Given the description of an element on the screen output the (x, y) to click on. 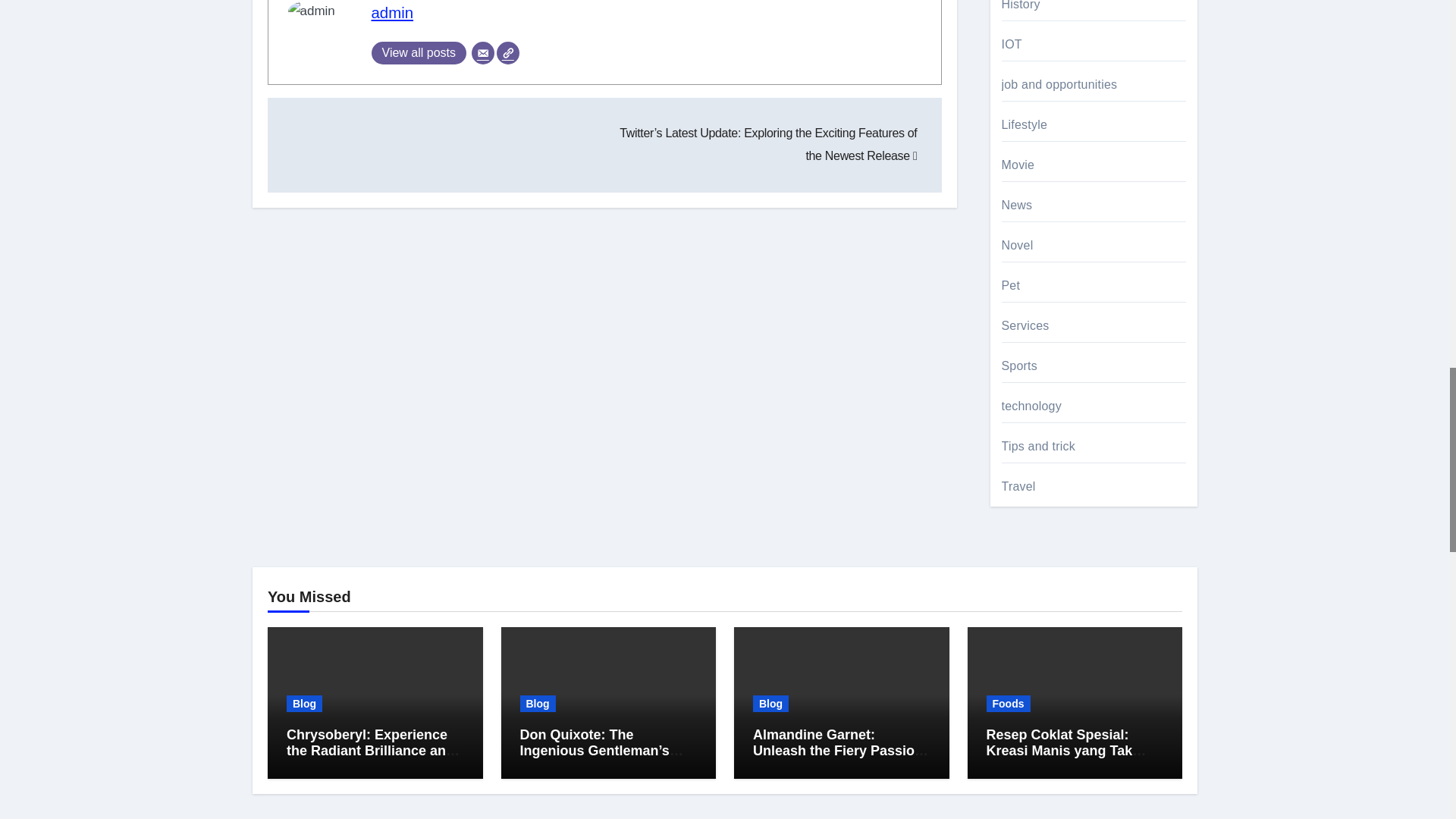
View all posts (419, 52)
View all posts (419, 52)
admin (392, 12)
admin (392, 12)
